Given the description of an element on the screen output the (x, y) to click on. 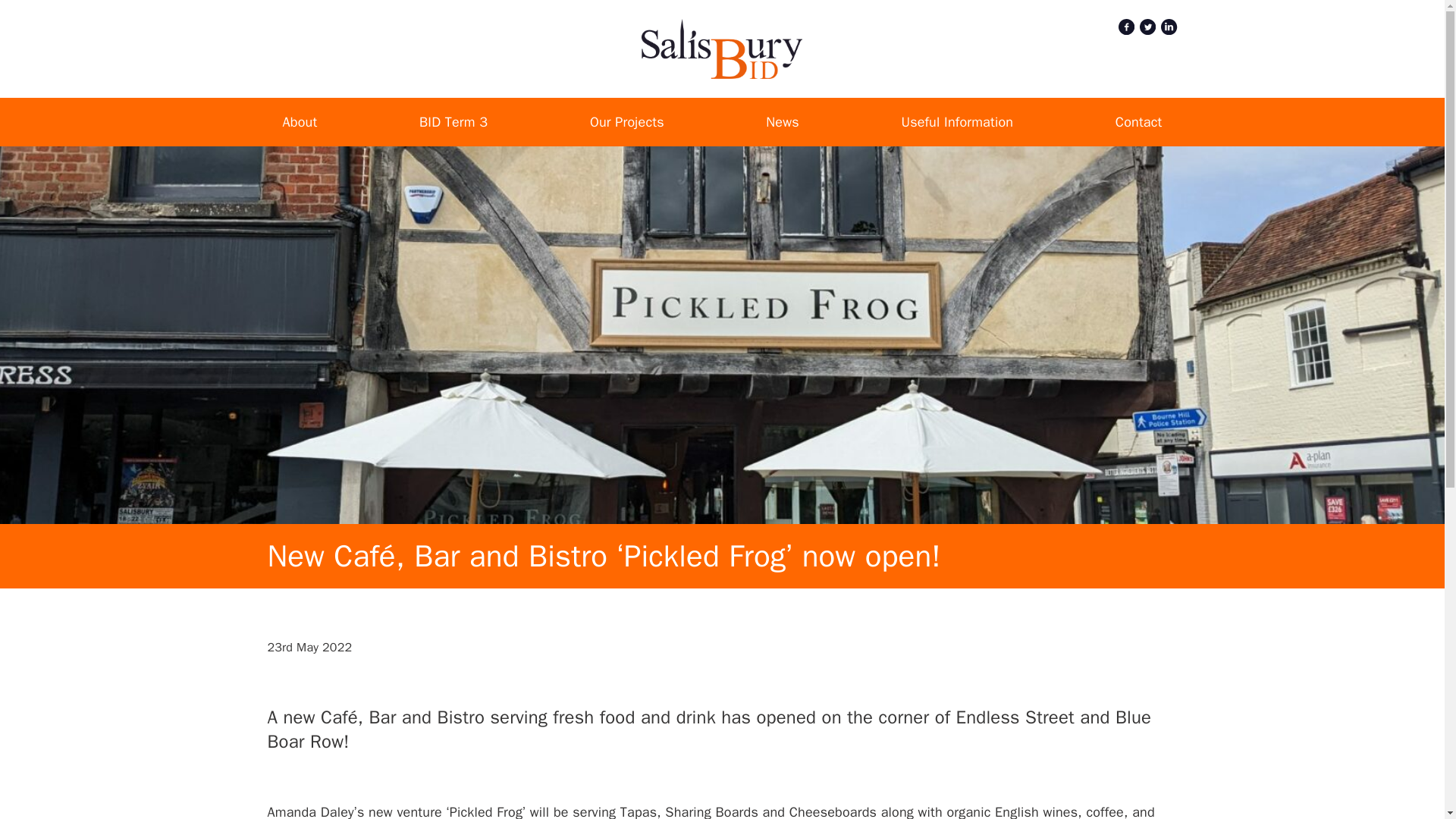
Useful Information (957, 122)
BID Term 3 (453, 122)
News (782, 122)
Our Projects (626, 122)
Contact (1138, 122)
About (299, 122)
